Given the description of an element on the screen output the (x, y) to click on. 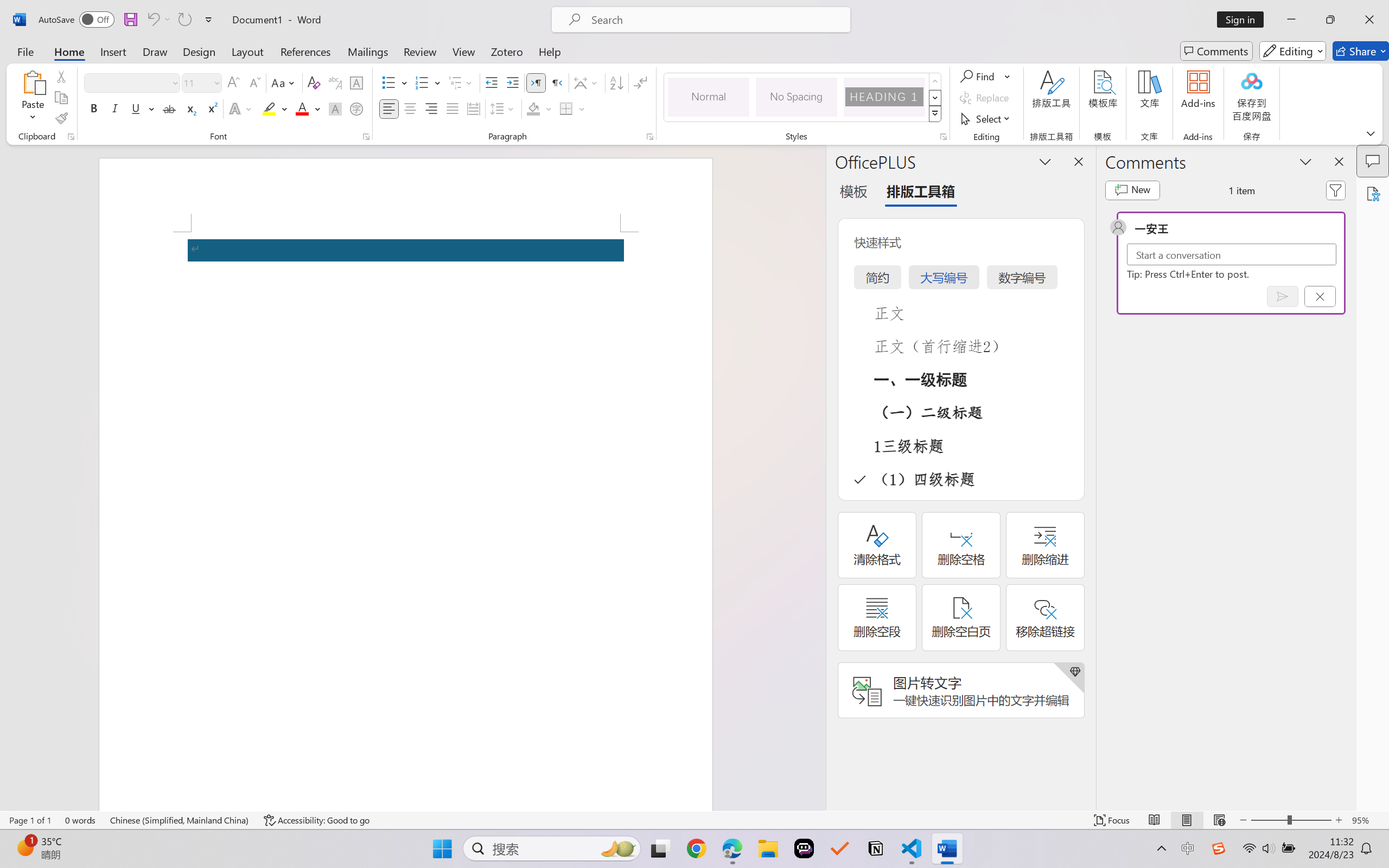
Post comment (Ctrl + Enter) (1282, 296)
